Given the description of an element on the screen output the (x, y) to click on. 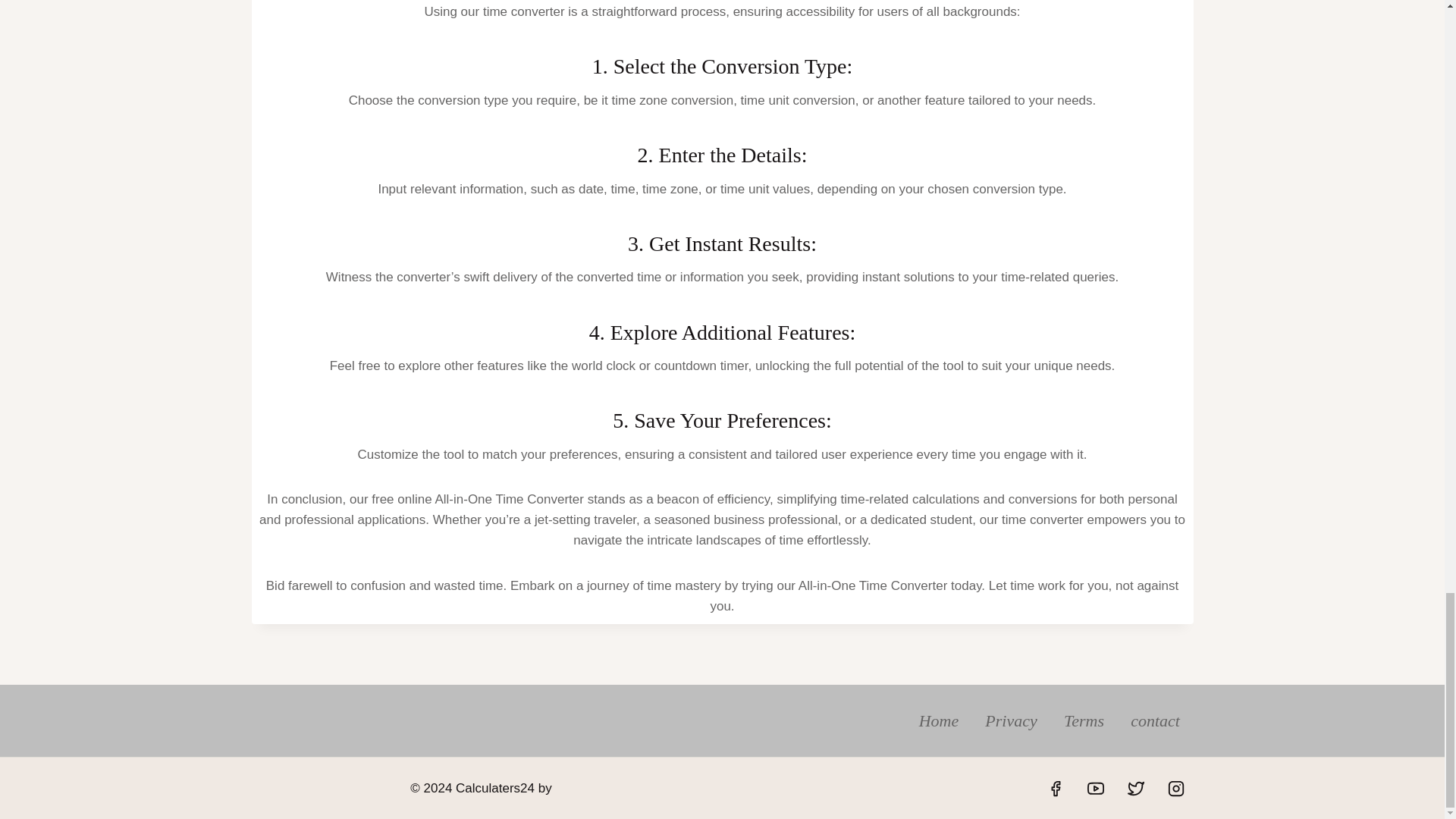
Home (938, 720)
Terms (1082, 720)
Privacy (1011, 720)
contact (1155, 720)
